Given the description of an element on the screen output the (x, y) to click on. 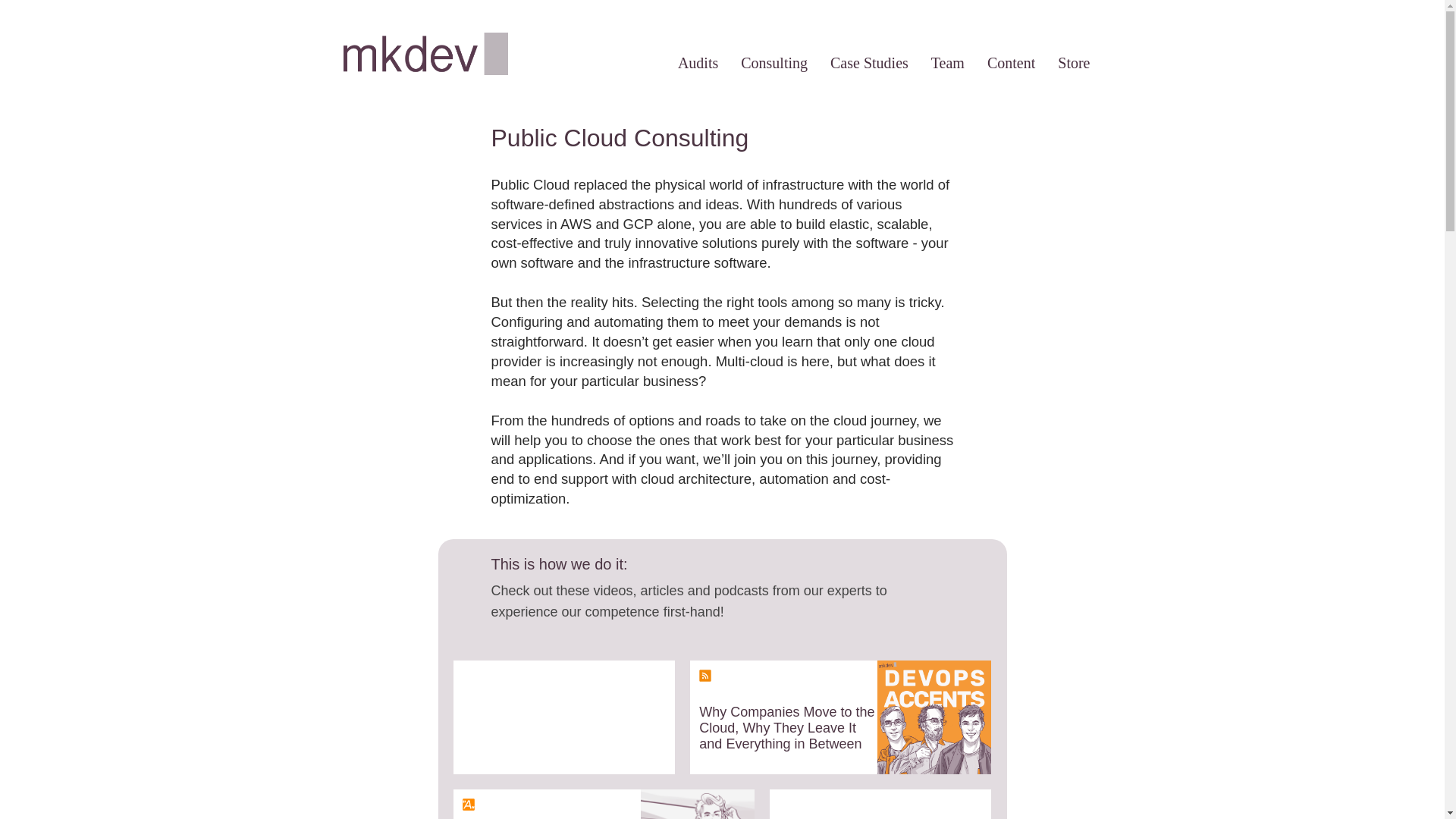
YouTube video player (883, 804)
Helm Templates and Values (603, 804)
YouTube video player (566, 716)
Content (1011, 62)
Store (1073, 62)
Audits (697, 62)
Team (947, 62)
Consulting (774, 62)
Case Studies (868, 62)
